Given the description of an element on the screen output the (x, y) to click on. 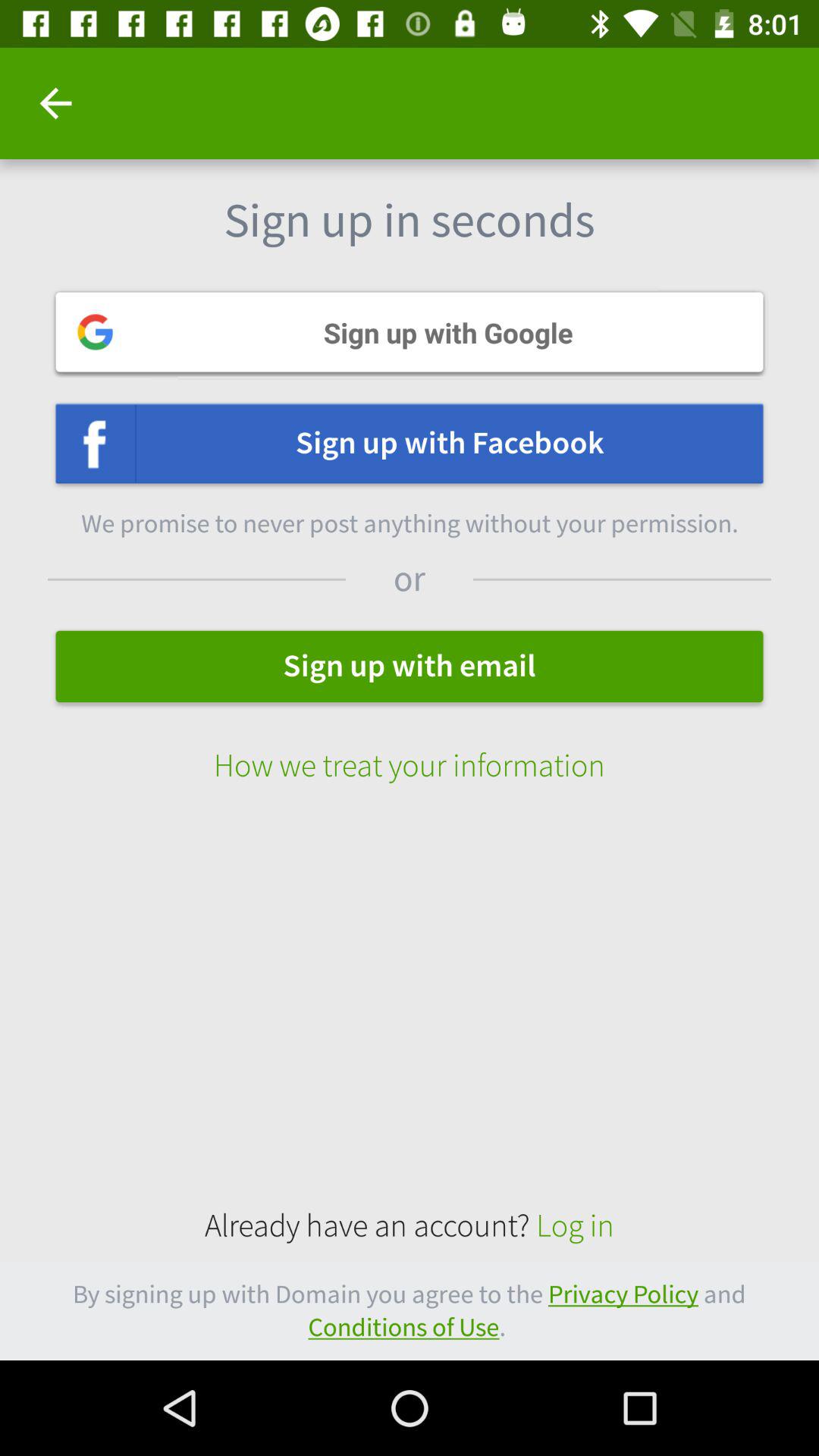
flip to the how we treat item (409, 750)
